Given the description of an element on the screen output the (x, y) to click on. 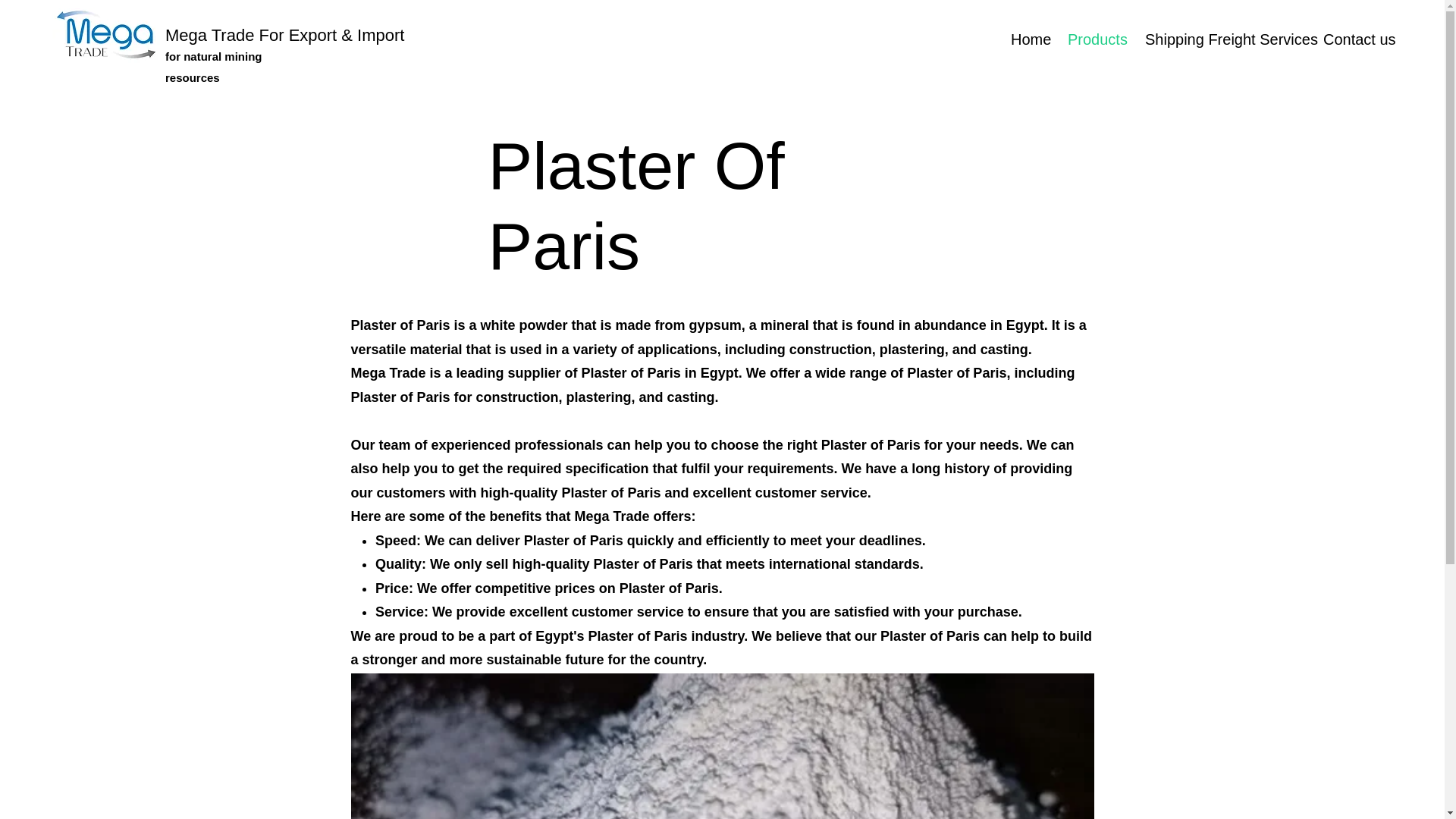
Shipping Freight Services (1222, 38)
Products (1095, 38)
WhatsApp Image 2020-06-20 at 12.46.48 AM (721, 746)
Home (1027, 38)
Contact us (1355, 38)
